Given the description of an element on the screen output the (x, y) to click on. 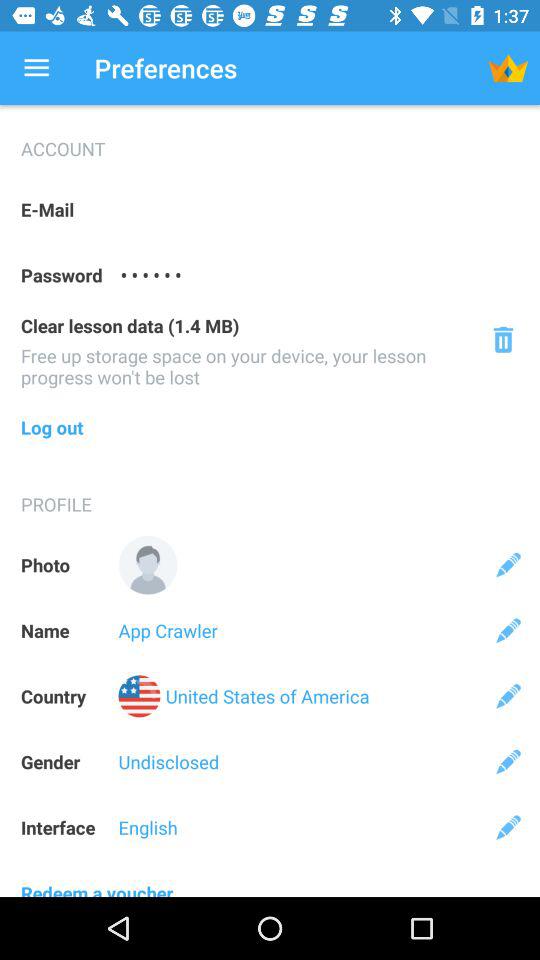
click on the icon on the right side of undisclosed (508, 762)
click on edit button which is next to united states of america (508, 696)
click on delete icon (503, 339)
